Given the description of an element on the screen output the (x, y) to click on. 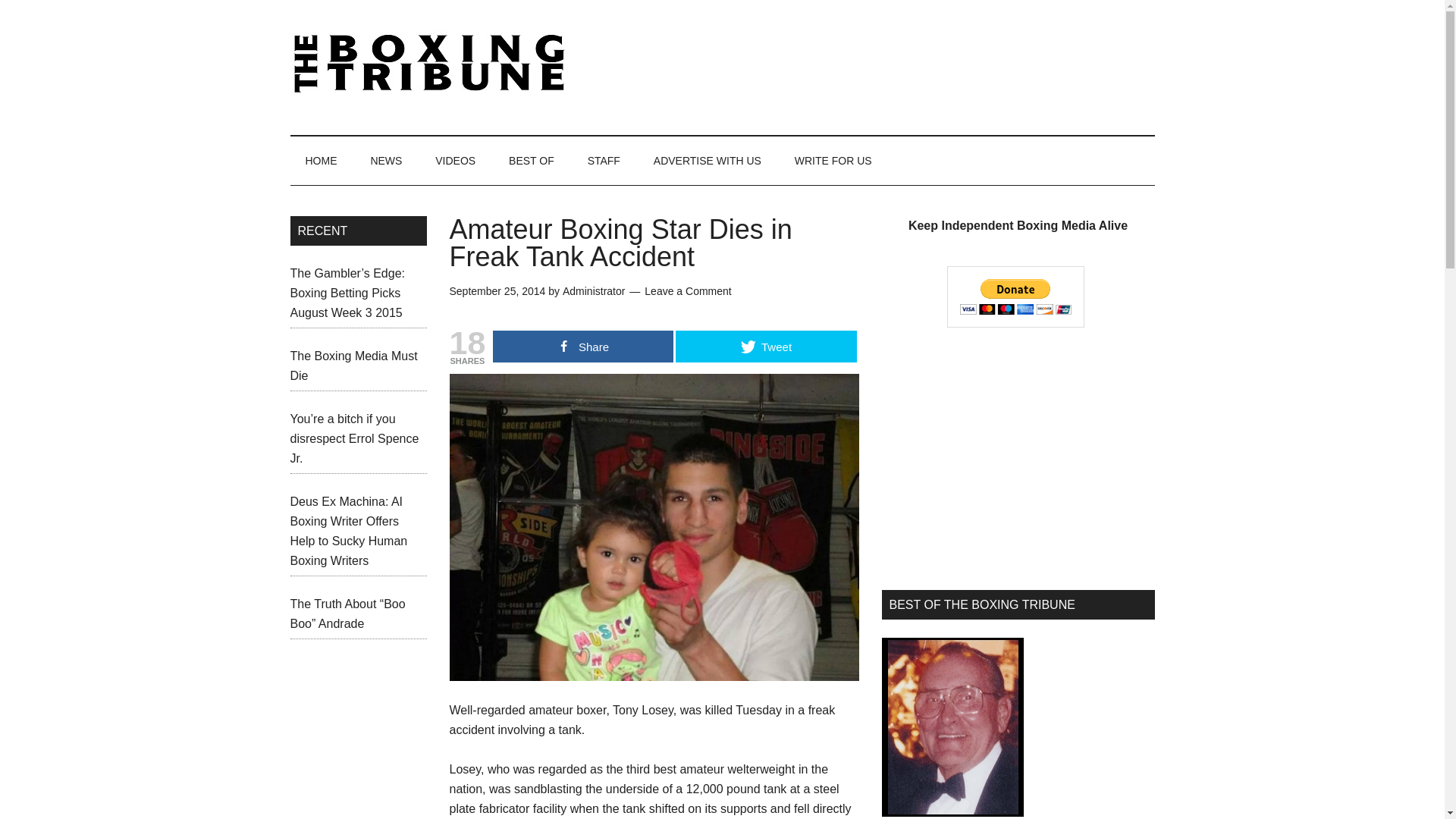
Tweet (765, 346)
BEST OF (531, 160)
The Boxing Media Must Die (352, 365)
HOME (320, 160)
PayPal - The safer, easier way to pay online! (1015, 296)
NEWS (385, 160)
VIDEOS (455, 160)
Leave a Comment (687, 291)
The Boxing Tribune (433, 64)
STAFF (603, 160)
Share (582, 346)
WRITE FOR US (832, 160)
Administrator (593, 291)
ADVERTISE WITH US (707, 160)
